Given the description of an element on the screen output the (x, y) to click on. 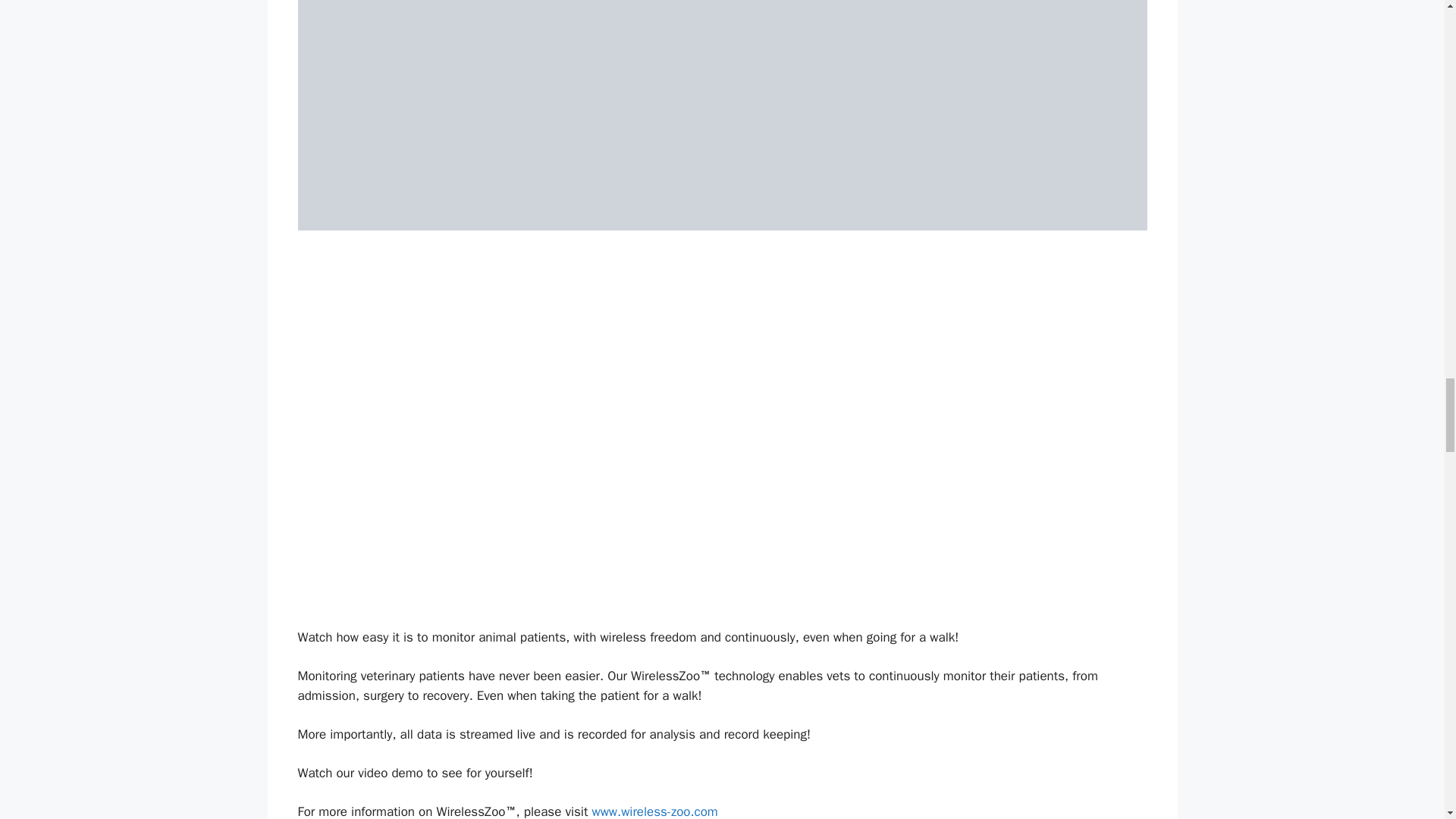
www.wireless-zoo.com (654, 811)
